Given the description of an element on the screen output the (x, y) to click on. 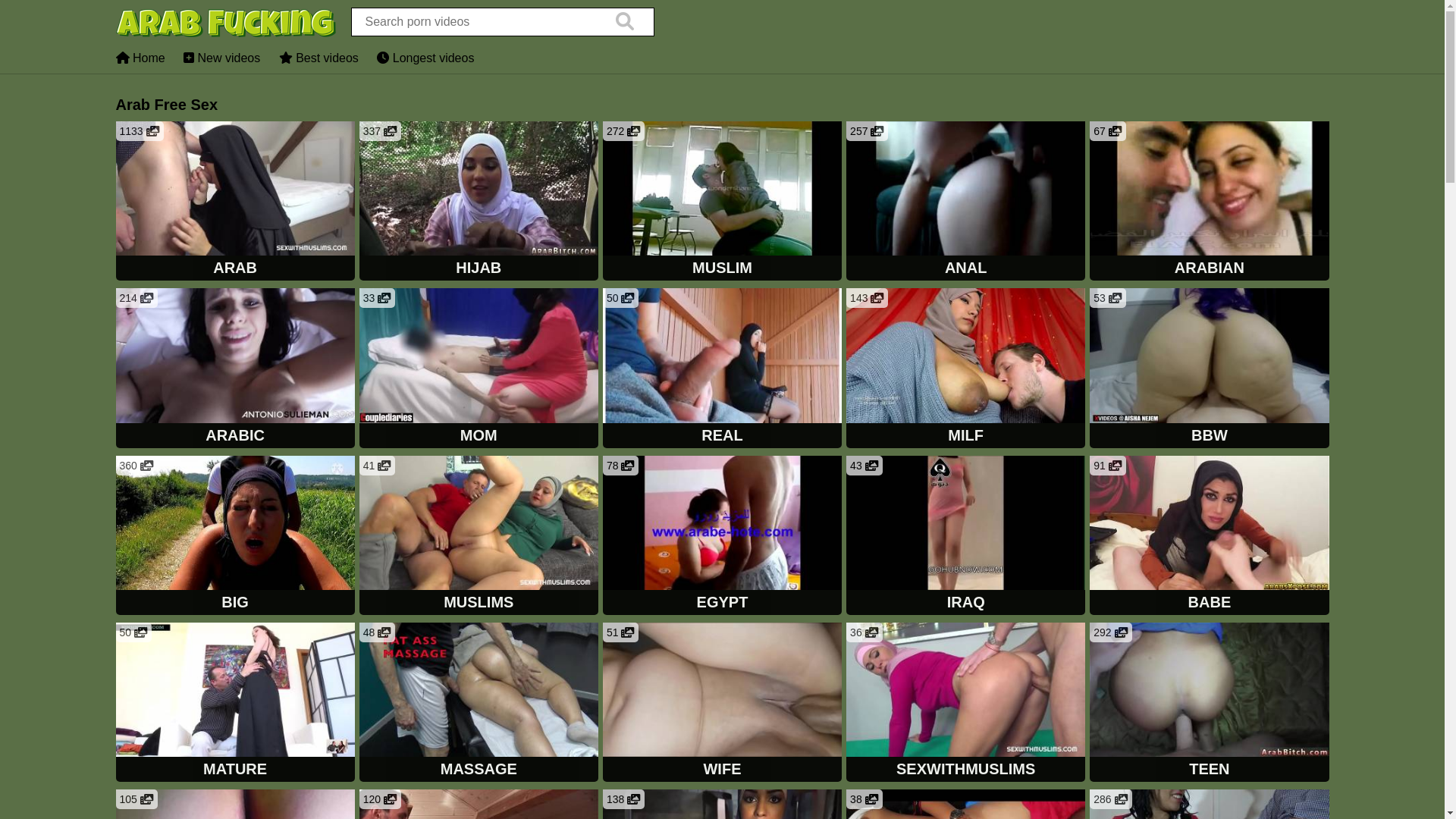
43
IRAQ Element type: text (965, 536)
67
ARABIAN Element type: text (1208, 202)
51
WIFE Element type: text (721, 703)
Longest videos Element type: text (424, 57)
Best videos Element type: text (318, 57)
214
ARABIC Element type: text (234, 369)
50
MATURE Element type: text (234, 703)
33
MOM Element type: text (478, 369)
292
TEEN Element type: text (1208, 703)
53
BBW Element type: text (1208, 369)
257
ANAL Element type: text (965, 202)
360
BIG Element type: text (234, 536)
41
MUSLIMS Element type: text (478, 536)
1133
ARAB Element type: text (234, 202)
272
MUSLIM Element type: text (721, 202)
New videos Element type: text (221, 57)
50
REAL Element type: text (721, 369)
48
MASSAGE Element type: text (478, 703)
91
BABE Element type: text (1208, 536)
Home Element type: text (139, 57)
143
MILF Element type: text (965, 369)
78
EGYPT Element type: text (721, 536)
36
SEXWITHMUSLIMS Element type: text (965, 703)
337
HIJAB Element type: text (478, 202)
